Given the description of an element on the screen output the (x, y) to click on. 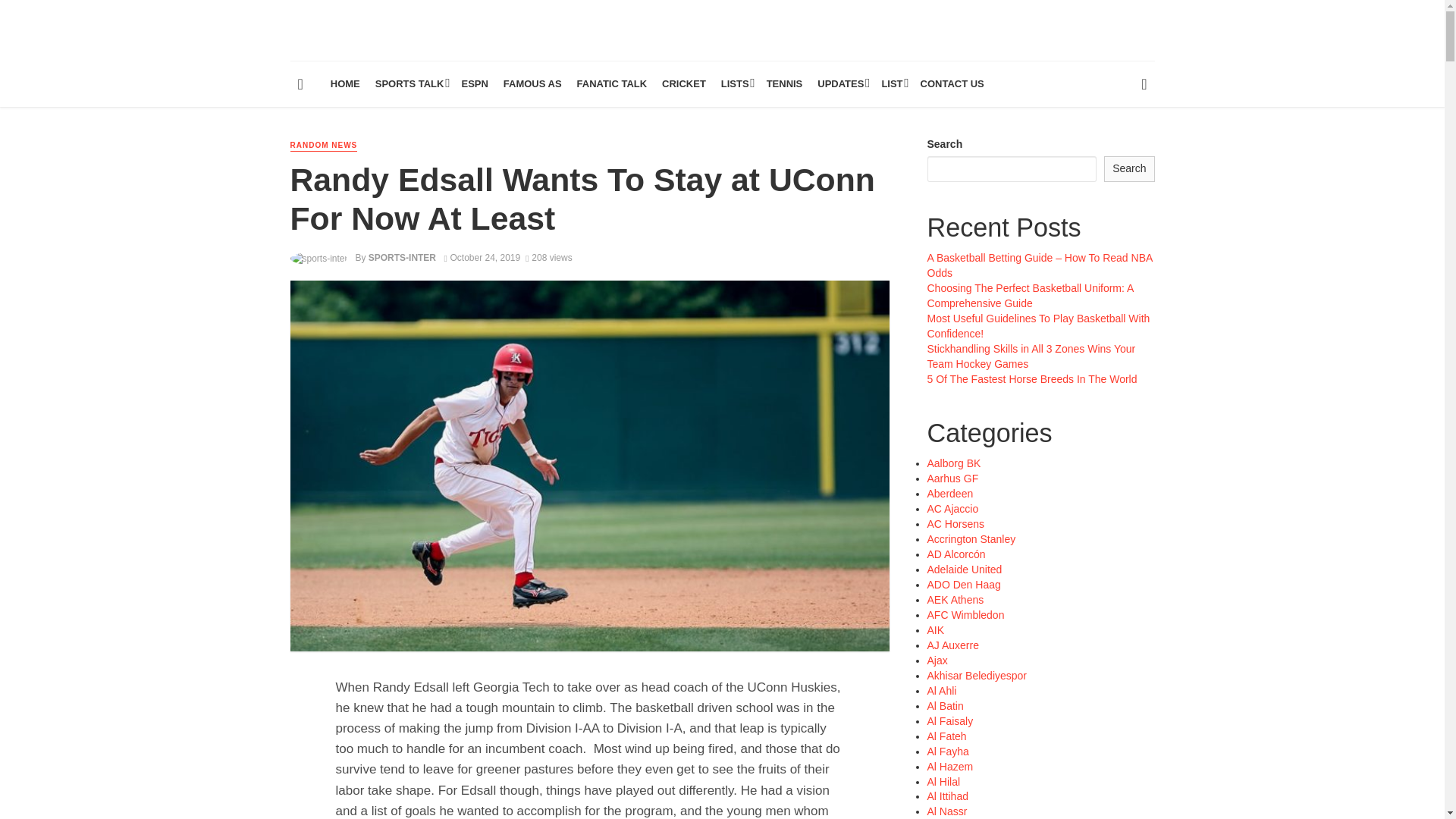
UPDATES (841, 84)
ESPN (473, 84)
CRICKET (683, 84)
SPORTS TALK (411, 84)
October 24, 2019 at 9:07 am (482, 257)
FANATIC TALK (612, 84)
Posts by sports-inter (401, 257)
FAMOUS AS (532, 84)
HOME (345, 84)
TENNIS (784, 84)
